Given the description of an element on the screen output the (x, y) to click on. 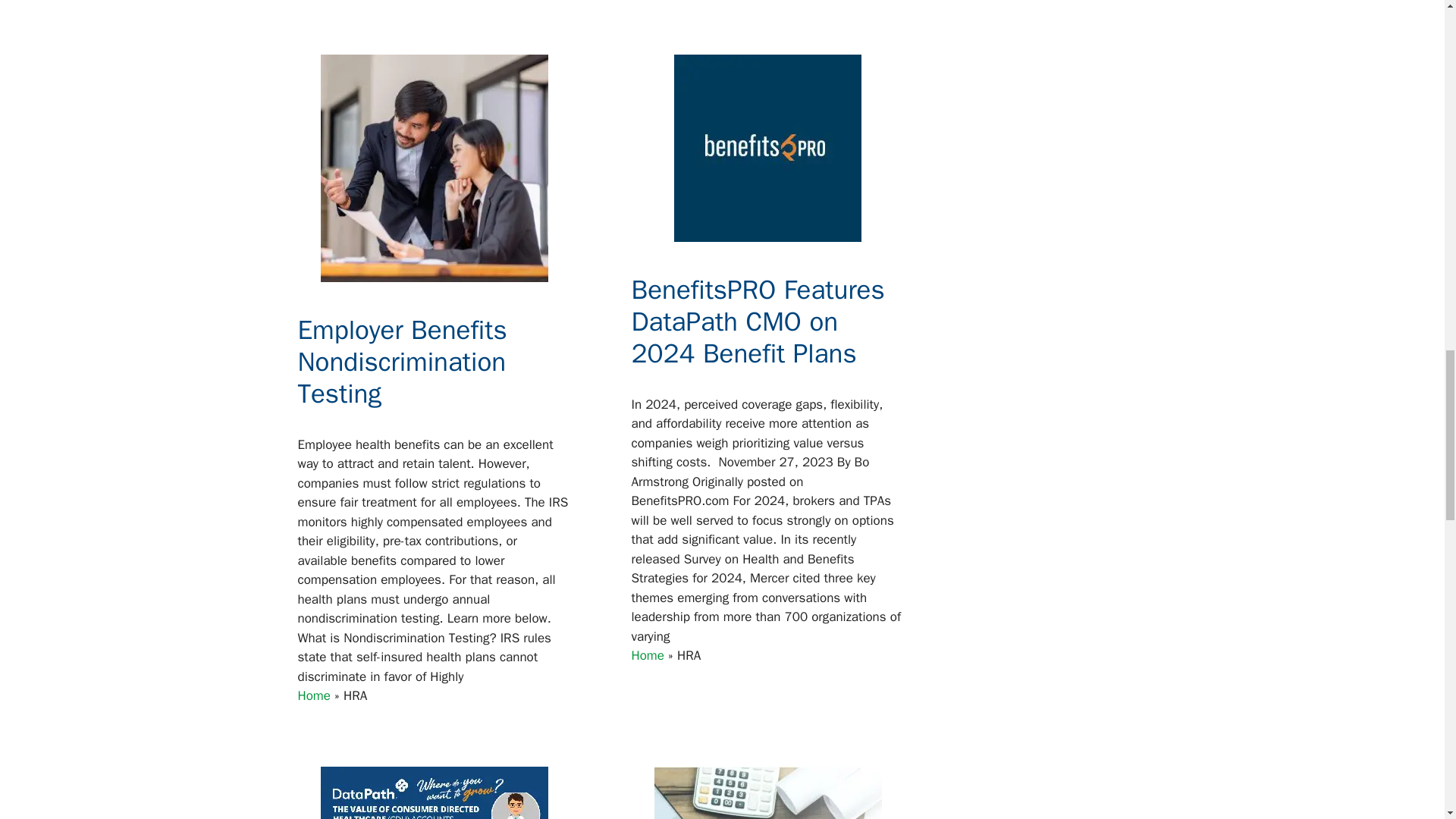
Home (646, 655)
Employer Benefits Nondiscrimination Testing (401, 361)
Home (313, 695)
BenefitsPRO Features DataPath CMO on 2024 Benefit Plans (756, 321)
